Given the description of an element on the screen output the (x, y) to click on. 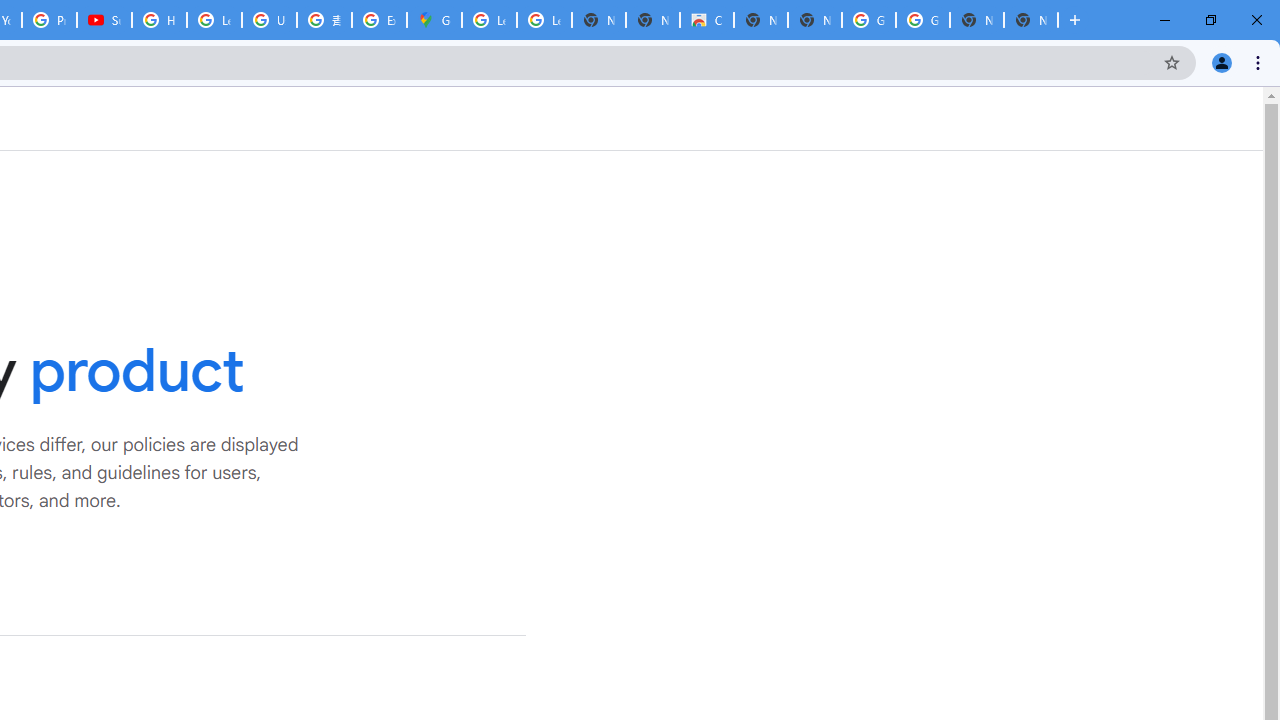
Explore new street-level details - Google Maps Help (379, 20)
Chrome Web Store (706, 20)
Google Images (922, 20)
Subscriptions - YouTube (103, 20)
Google Images (868, 20)
How Chrome protects your passwords - Google Chrome Help (158, 20)
Google Maps (434, 20)
New Tab (1030, 20)
